Given the description of an element on the screen output the (x, y) to click on. 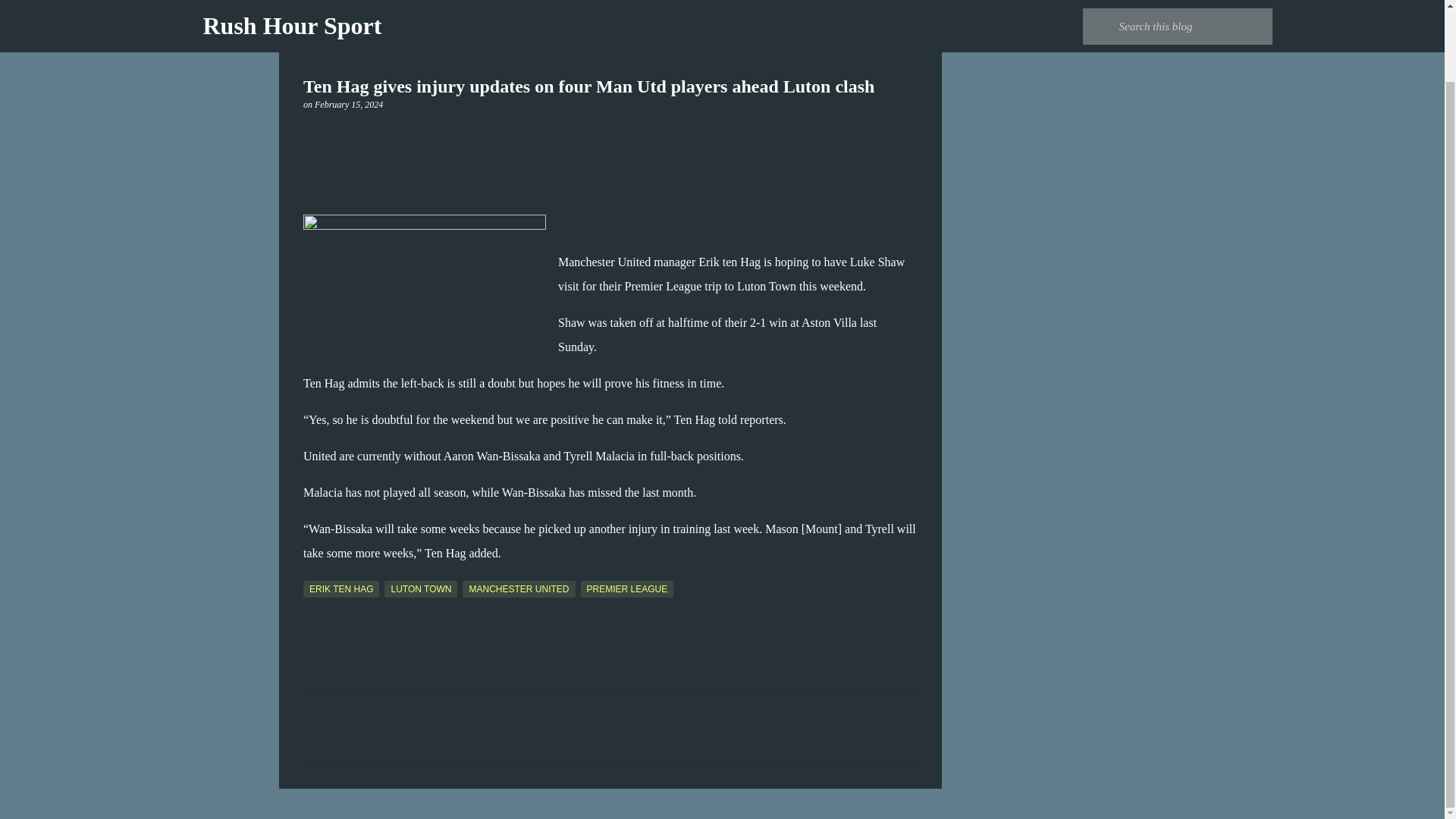
LUTON TOWN (420, 588)
permanent link (348, 104)
PREMIER LEAGUE (627, 588)
ERIK TEN HAG (340, 588)
MANCHESTER UNITED (519, 588)
February 15, 2024 (348, 104)
